Given the description of an element on the screen output the (x, y) to click on. 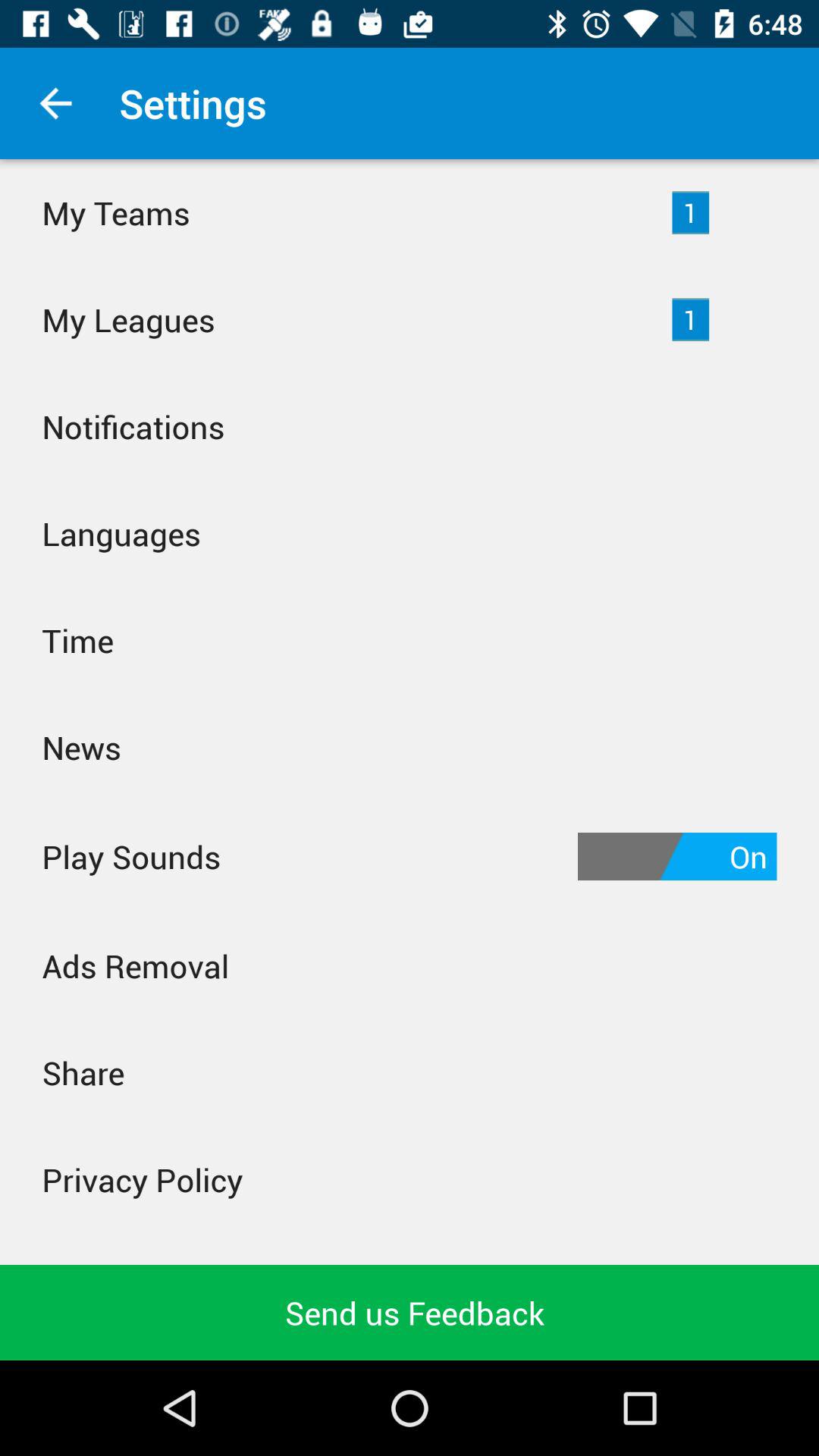
tap the item next to the settings item (55, 103)
